Given the description of an element on the screen output the (x, y) to click on. 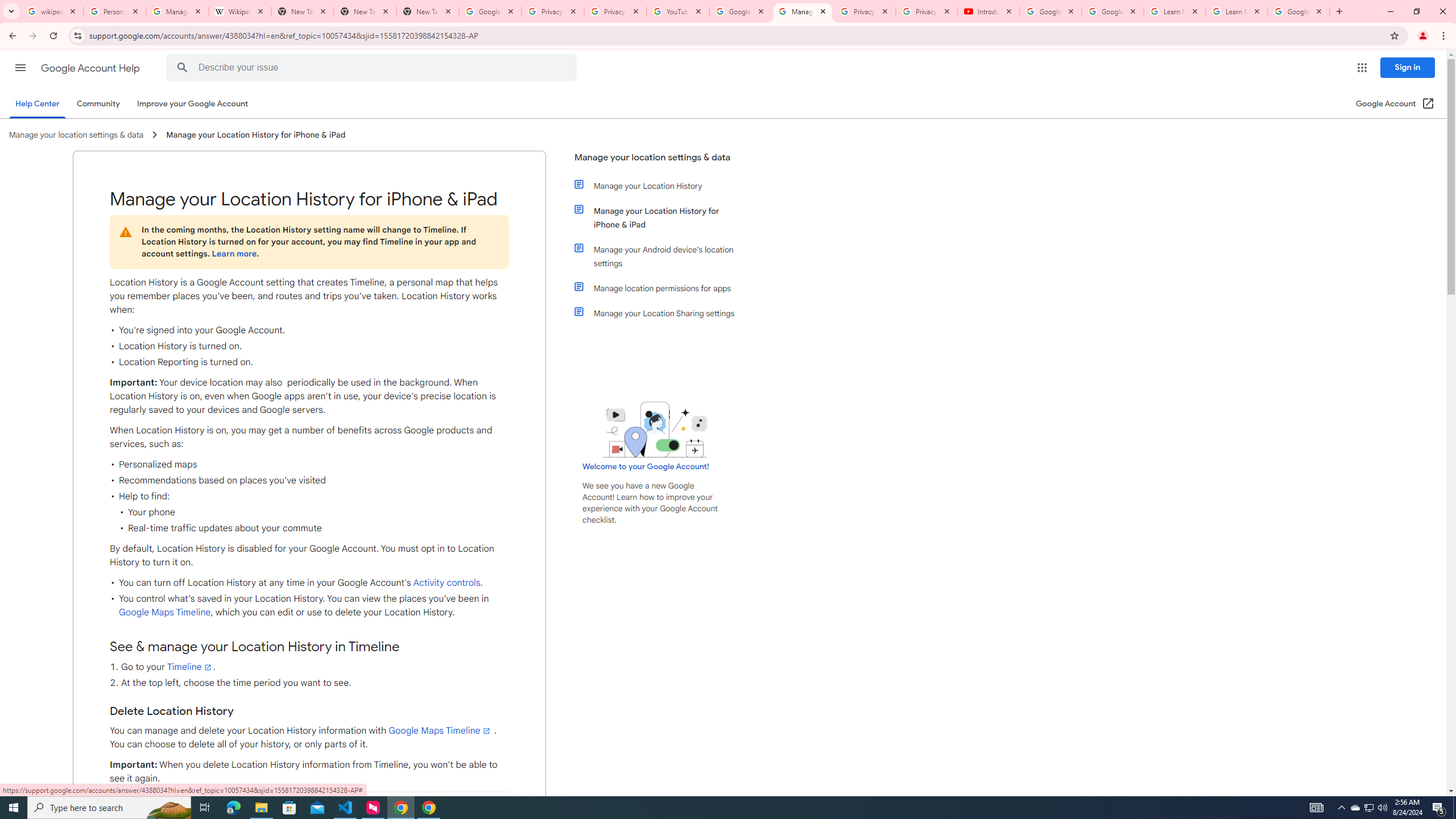
Activity controls (446, 582)
